Given the description of an element on the screen output the (x, y) to click on. 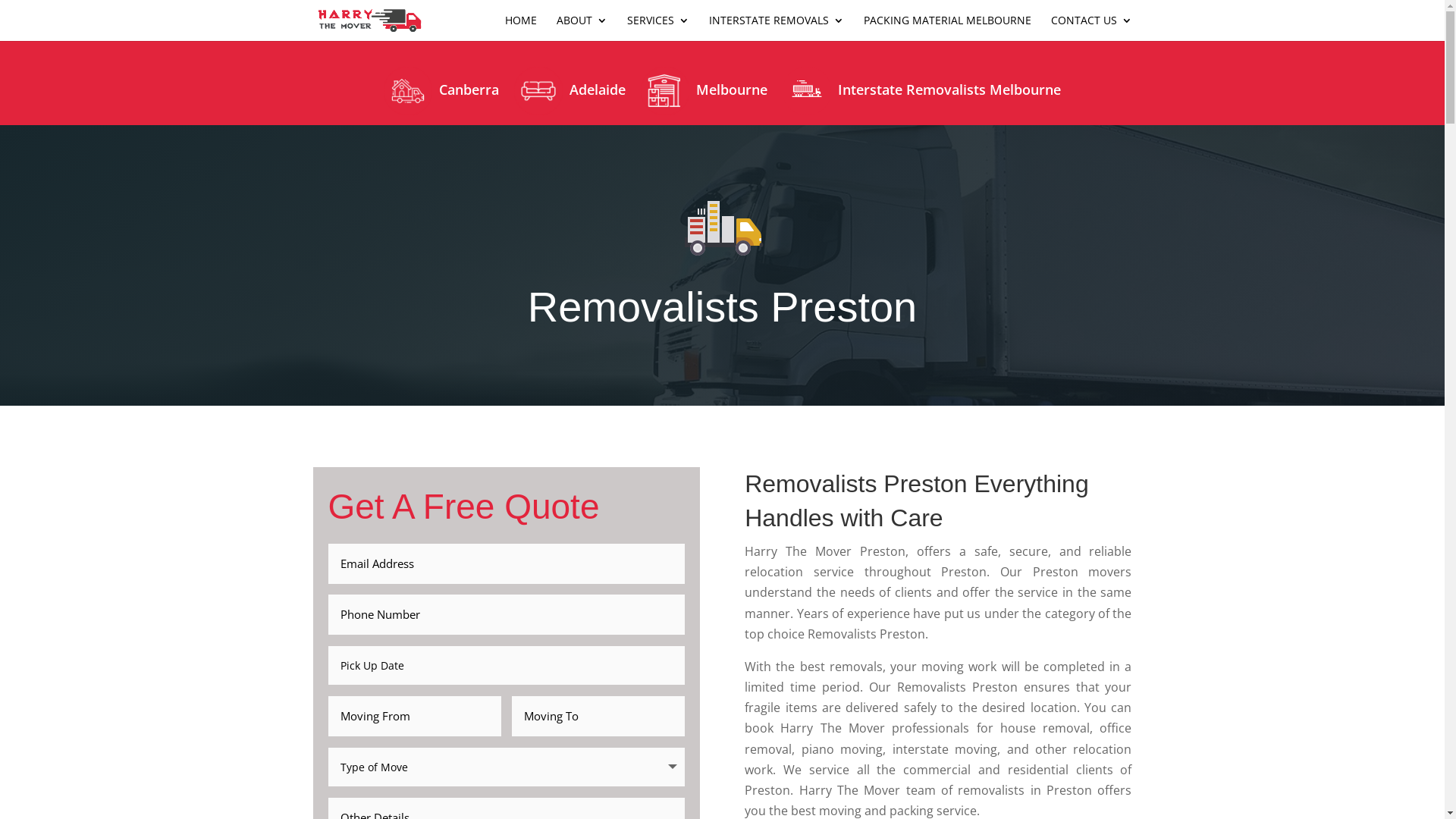
Canberra Element type: text (440, 95)
SERVICES Element type: text (657, 27)
Adelaide Element type: text (569, 95)
ABOUT Element type: text (581, 27)
PACKING MATERIAL MELBOURNE Element type: text (946, 27)
Melbourne Element type: text (703, 95)
INTERSTATE REMOVALS Element type: text (775, 27)
HOME Element type: text (520, 27)
Interstate Removalists Melbourne Element type: text (921, 95)
CONTACT US Element type: text (1091, 27)
